Given the description of an element on the screen output the (x, y) to click on. 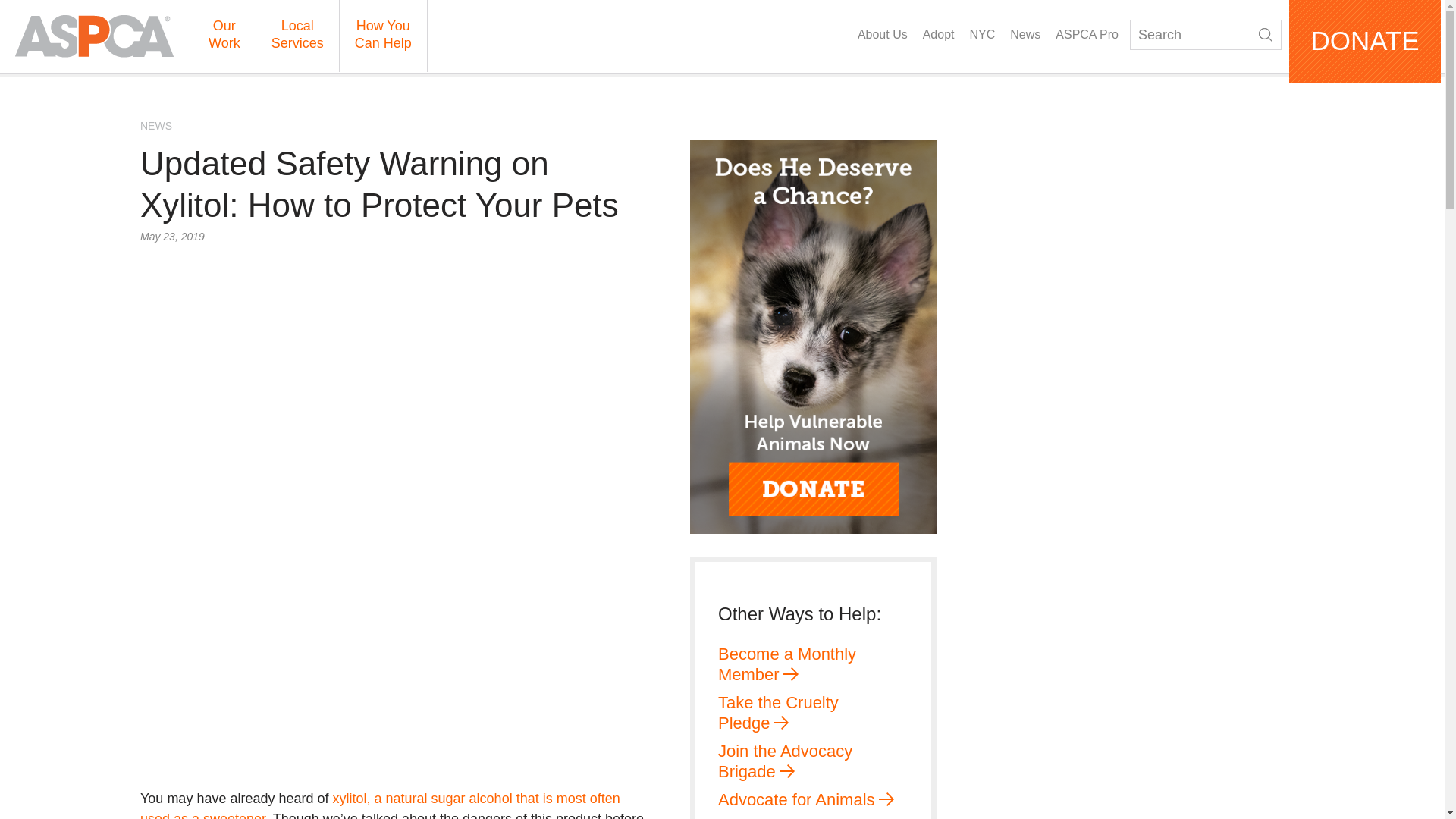
Home (93, 36)
Search (1205, 34)
Search (1265, 34)
